Given the description of an element on the screen output the (x, y) to click on. 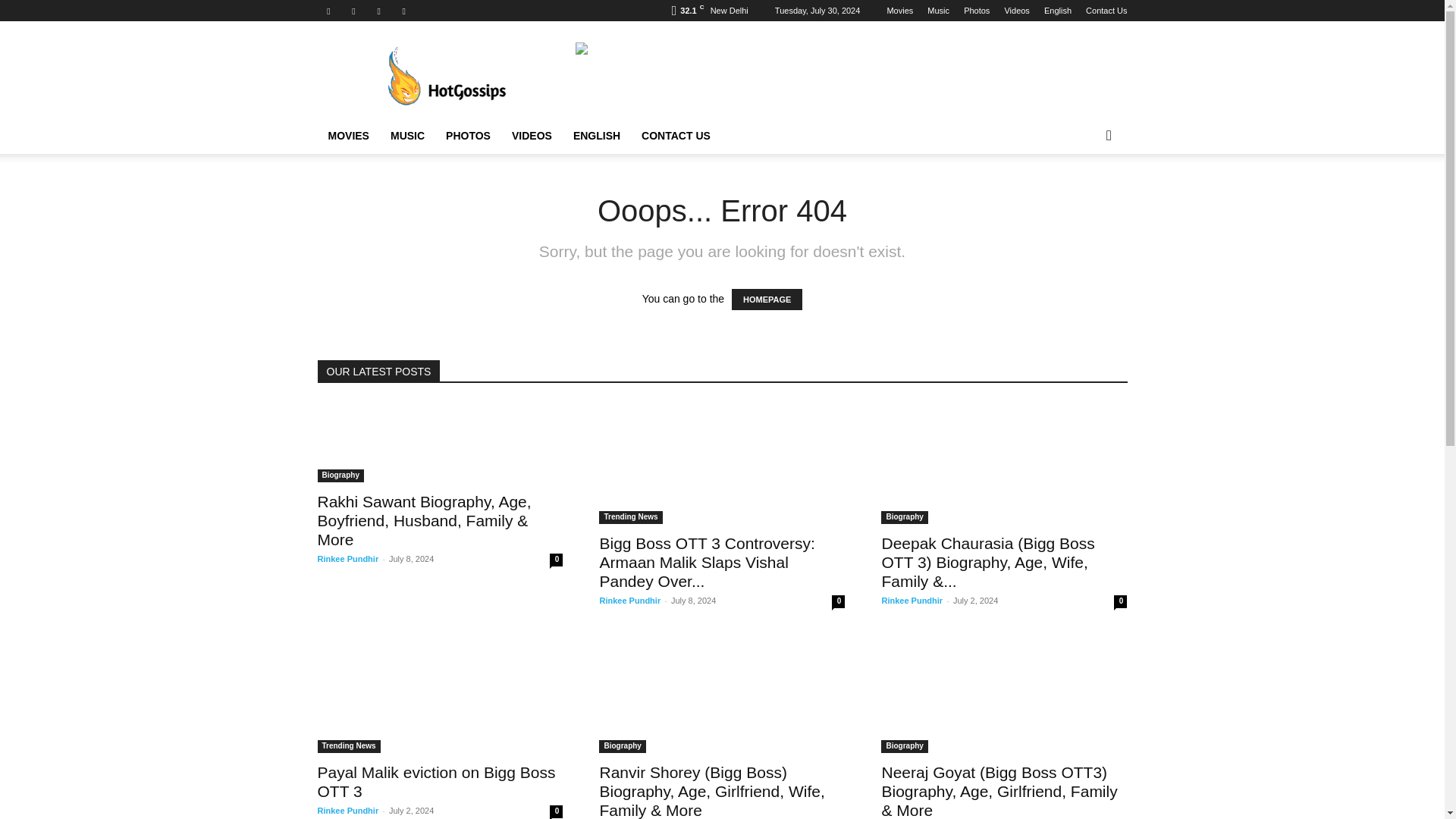
MUSIC (407, 135)
Twitter (403, 10)
ENGLISH (596, 135)
Photos (976, 10)
Facebook (328, 10)
CONTACT US (675, 135)
English (1057, 10)
Music (938, 10)
Movies (899, 10)
PHOTOS (467, 135)
Contact Us (1106, 10)
Pinterest (353, 10)
MOVIES (347, 135)
